Given the description of an element on the screen output the (x, y) to click on. 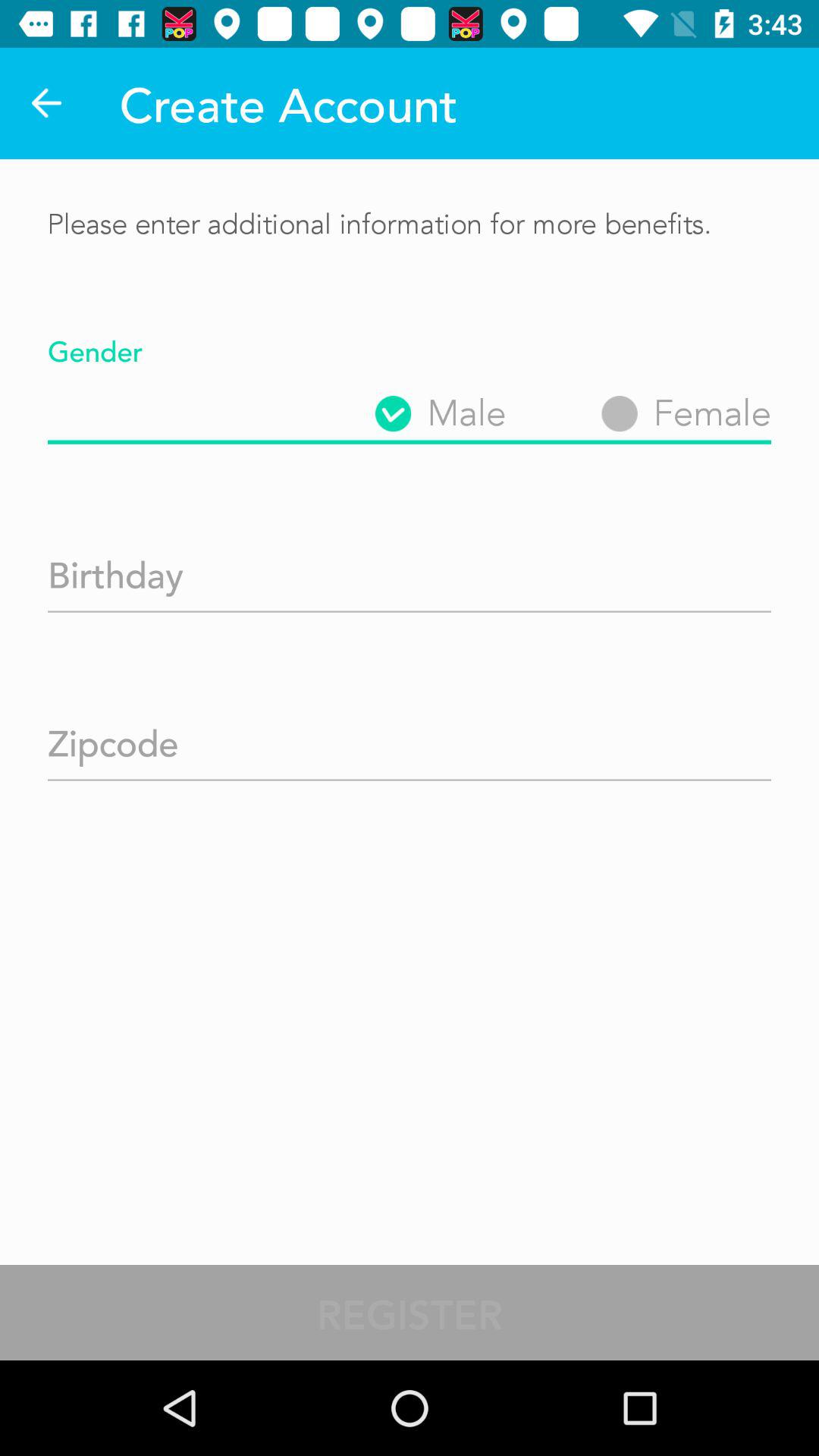
birthday text box (409, 569)
